Given the description of an element on the screen output the (x, y) to click on. 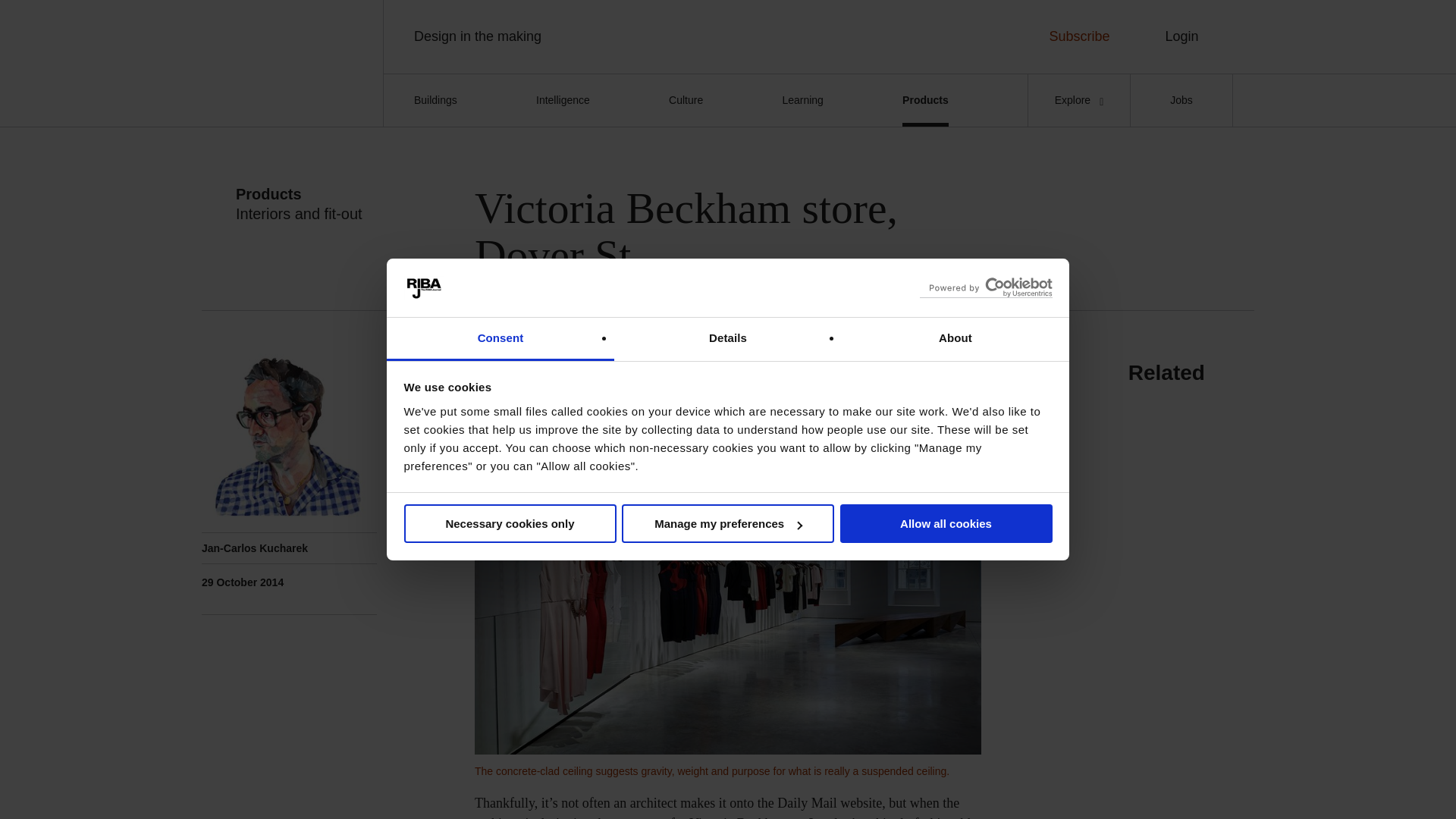
About (954, 339)
Details (727, 339)
Consent (500, 339)
